Given the description of an element on the screen output the (x, y) to click on. 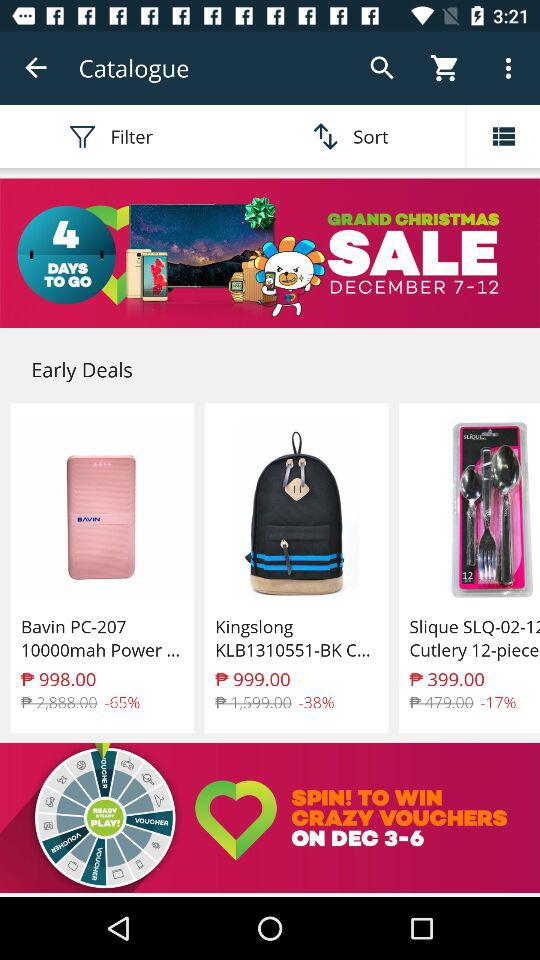
previous page (36, 68)
